Given the description of an element on the screen output the (x, y) to click on. 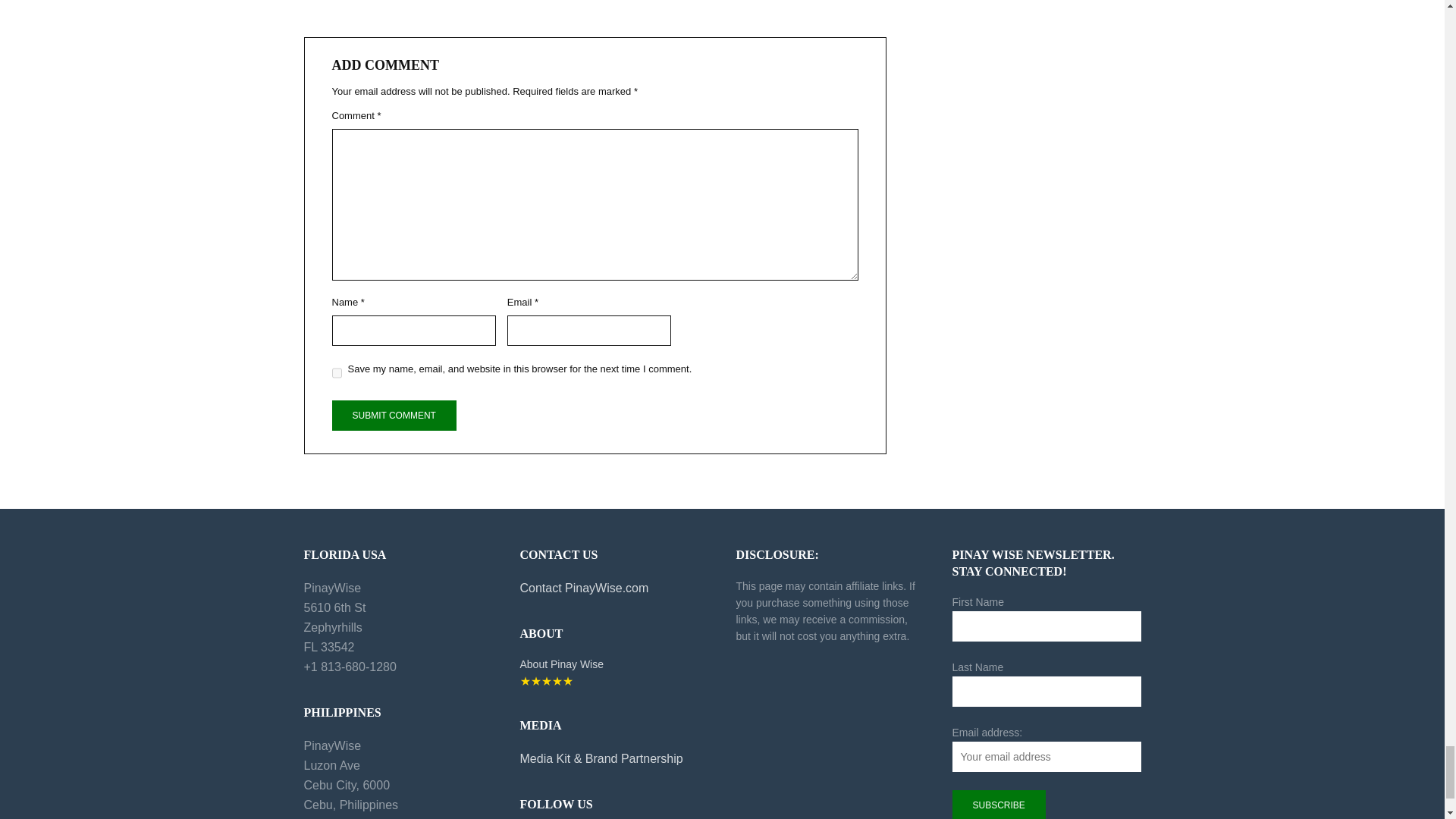
Submit Comment (394, 415)
Subscribe (998, 804)
